Given the description of an element on the screen output the (x, y) to click on. 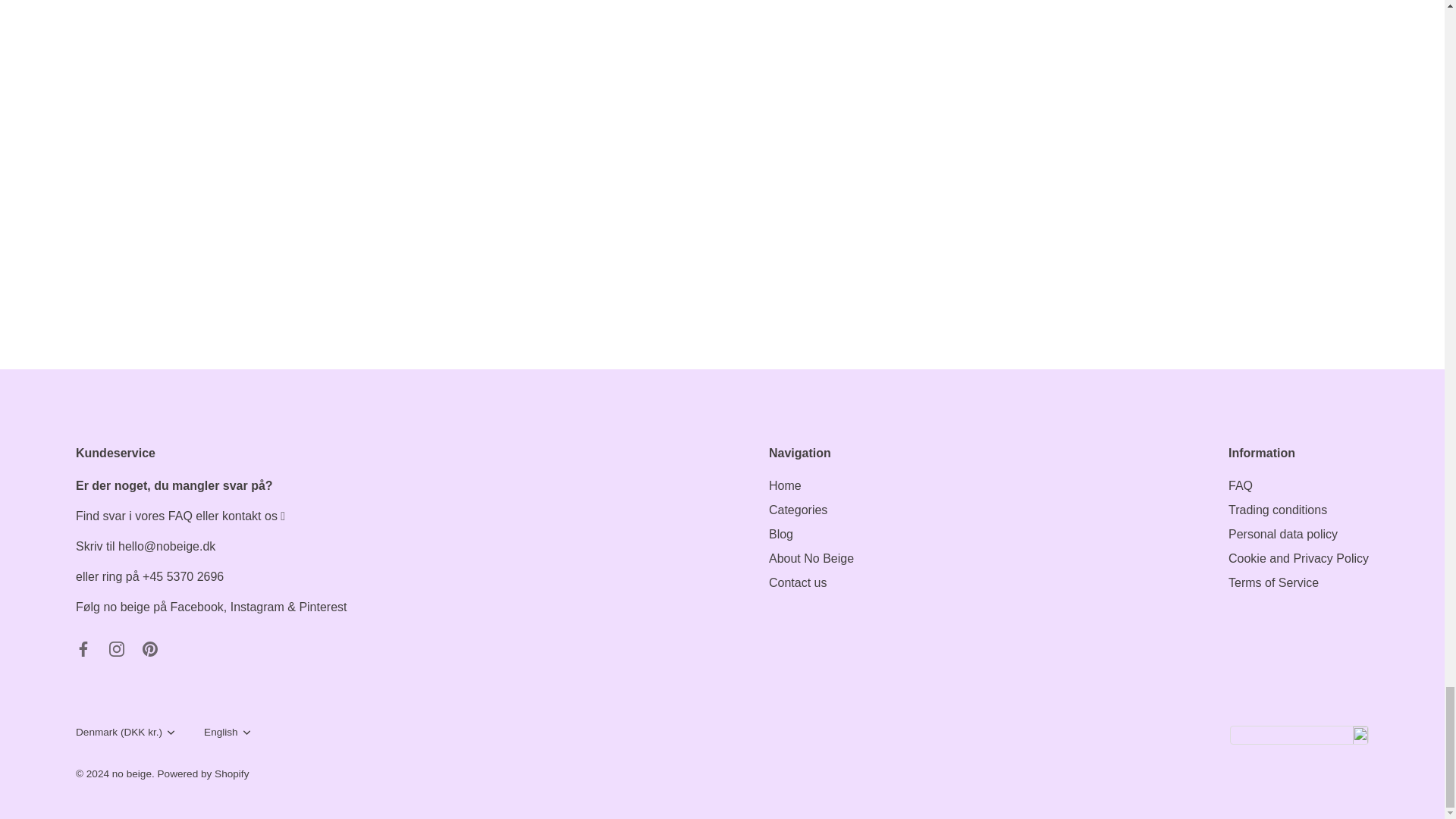
Instagram (116, 648)
tel:004553702696 (183, 576)
FAQ (180, 515)
Pinterest (149, 648)
